Given the description of an element on the screen output the (x, y) to click on. 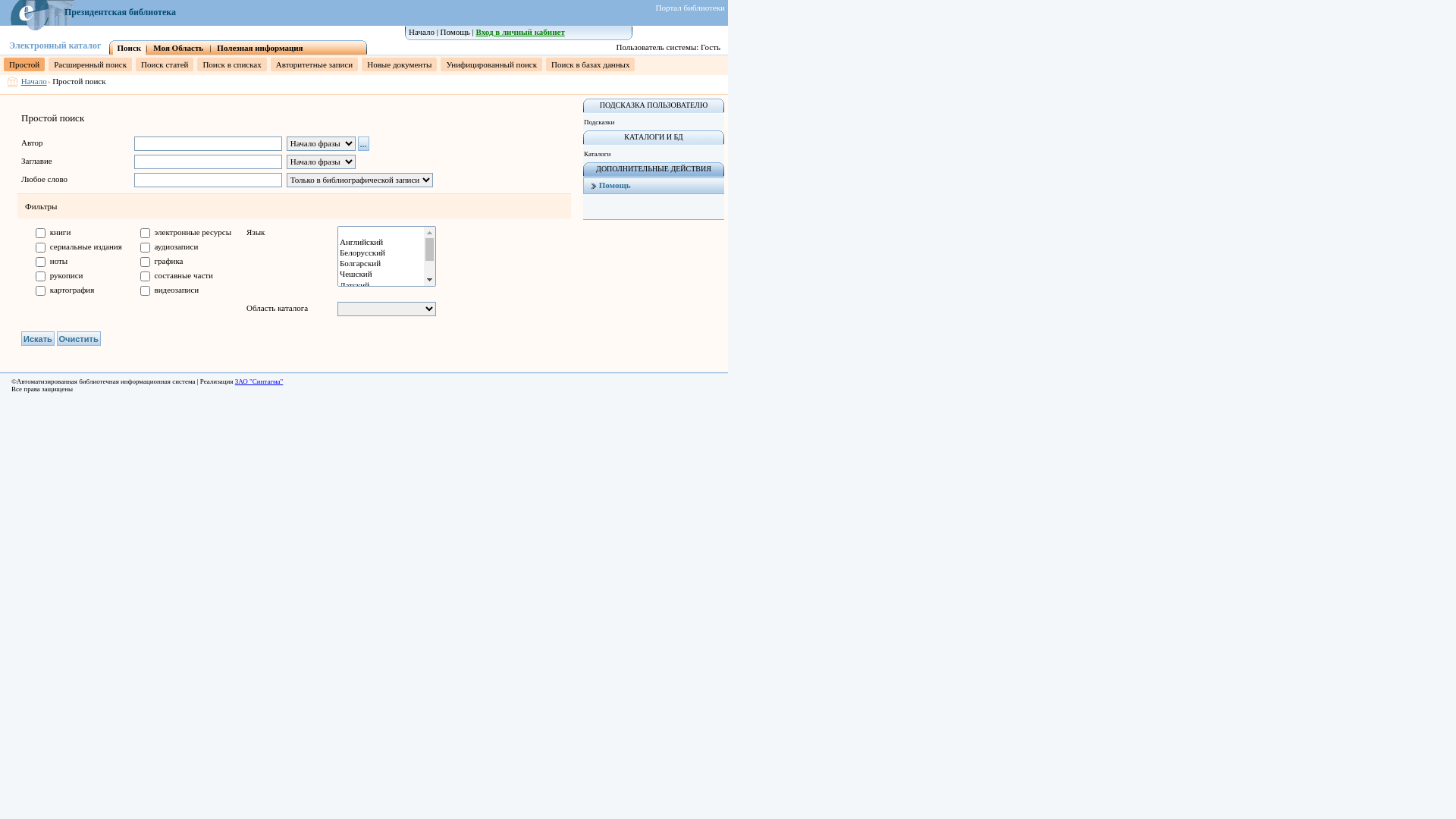
Help Element type: hover (593, 184)
